Given the description of an element on the screen output the (x, y) to click on. 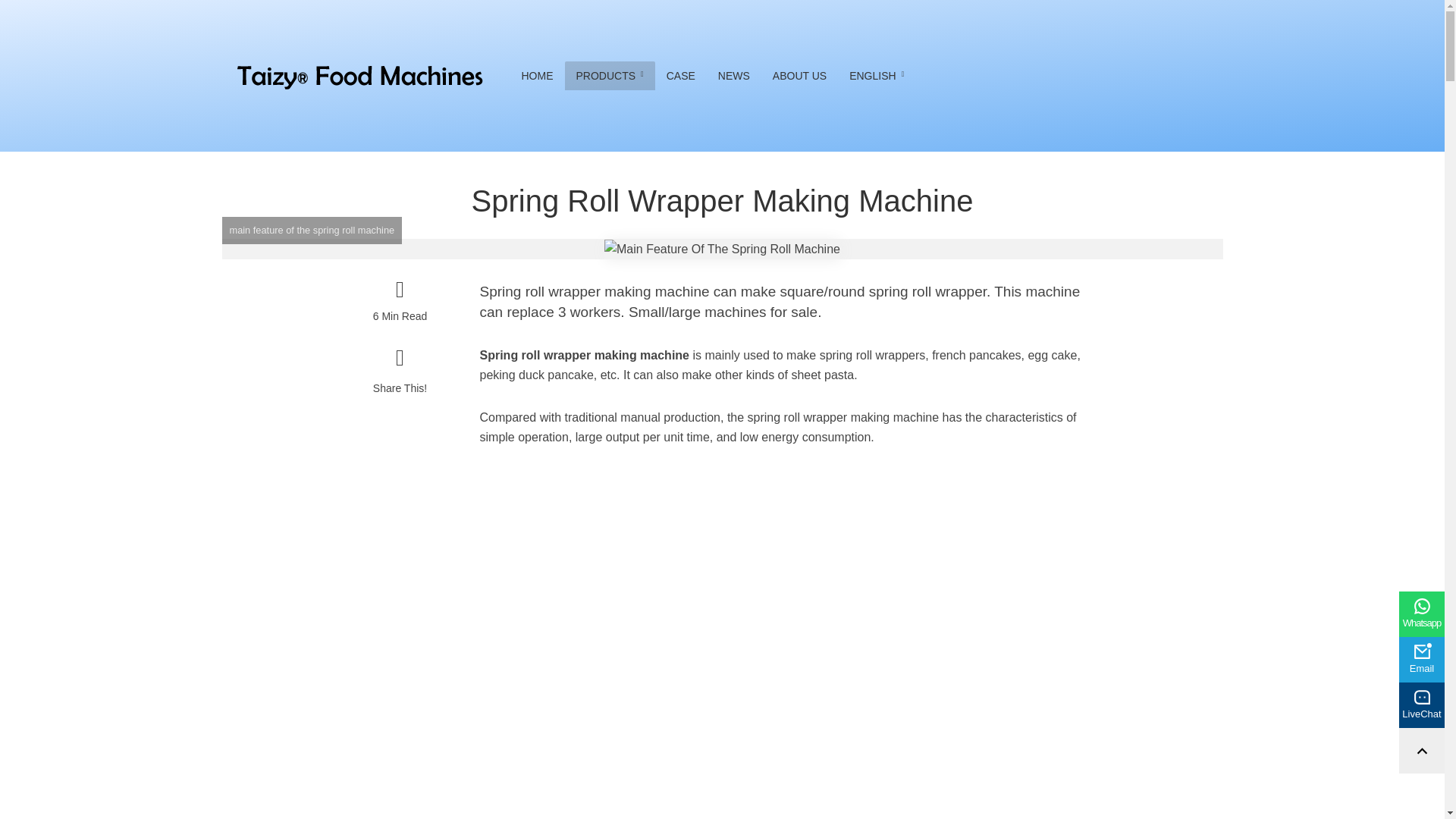
CASE (680, 75)
PRODUCTS (608, 75)
Spring Roll Wrapper Making Machine 1 (722, 249)
ENGLISH (876, 75)
NEWS (733, 75)
ABOUT US (799, 75)
HOME (536, 75)
